Given the description of an element on the screen output the (x, y) to click on. 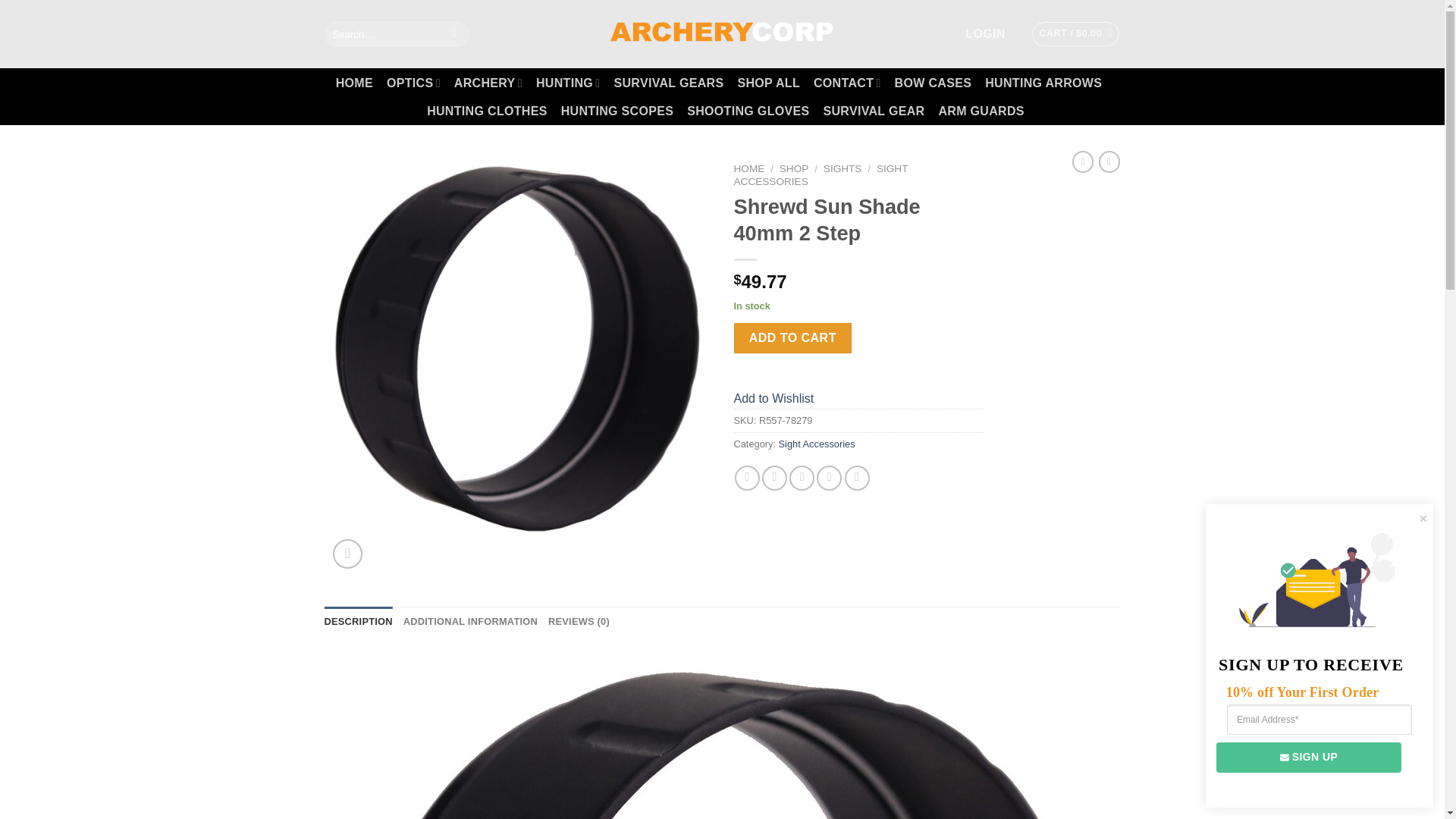
Search (454, 33)
OPTICS (414, 82)
Archery Corp - Gear Up for New Adventure! (722, 33)
Shrewd Sun Shade 40mm 2 Step (721, 734)
LOGIN (984, 33)
HUNTING (567, 82)
Cart (1075, 33)
HOME (354, 83)
